Given the description of an element on the screen output the (x, y) to click on. 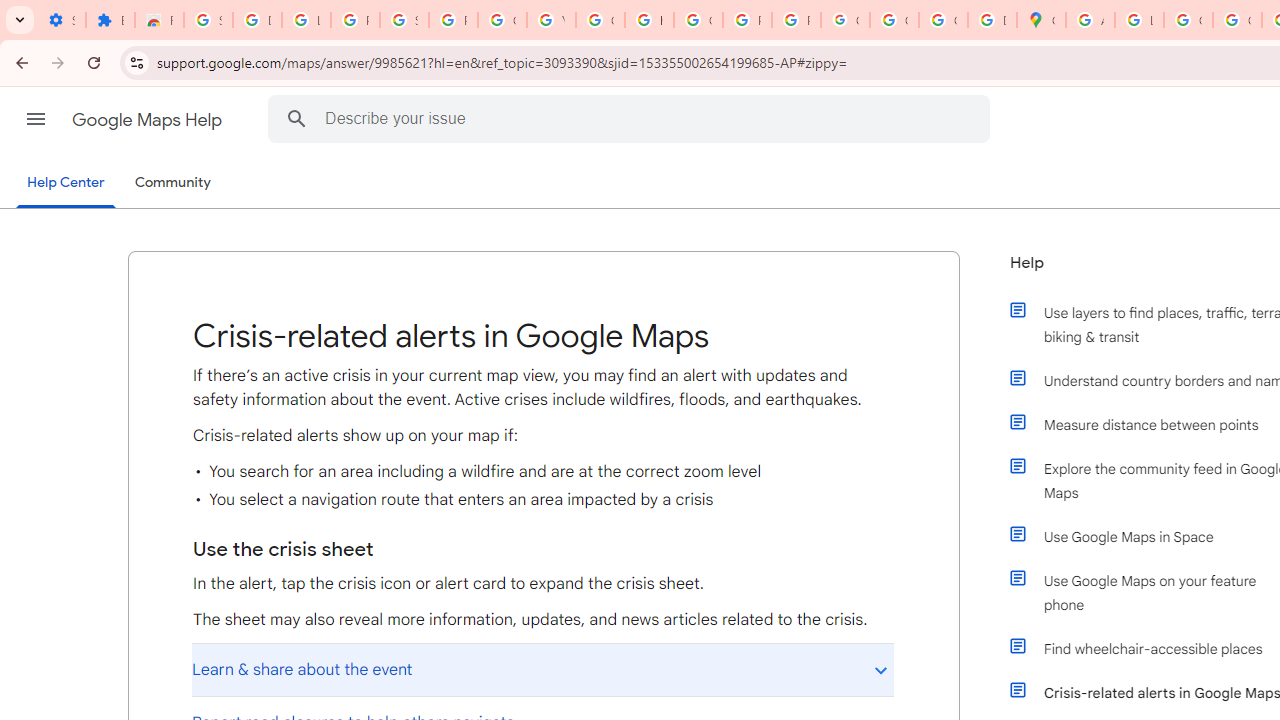
Google Maps Help (148, 119)
Reviews: Helix Fruit Jump Arcade Game (159, 20)
Sign in - Google Accounts (208, 20)
Search Help Center (297, 118)
Google Account (502, 20)
https://scholar.google.com/ (649, 20)
